Given the description of an element on the screen output the (x, y) to click on. 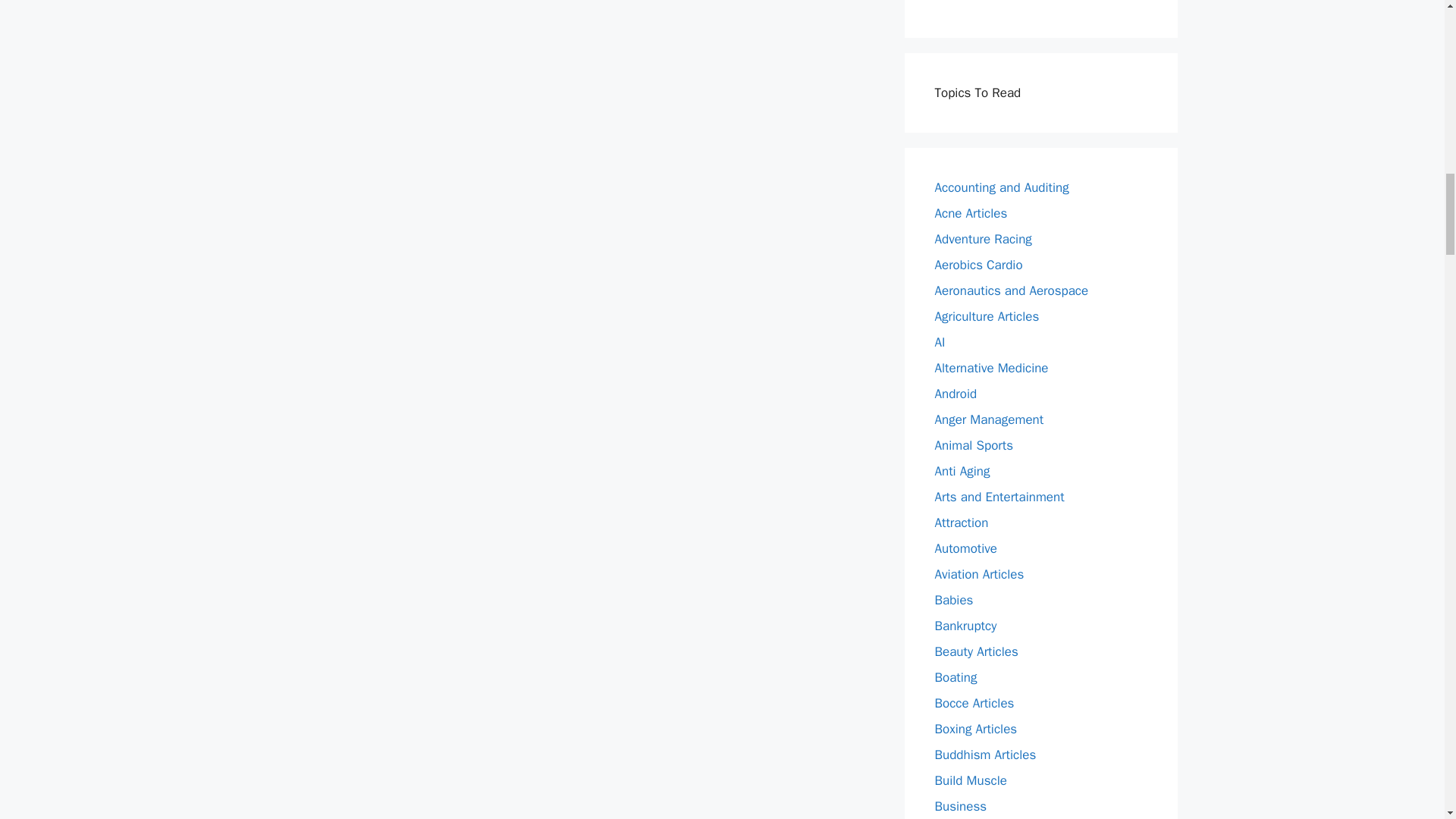
Adventure Racing (982, 238)
Acne Articles (970, 213)
Accounting and Auditing (1001, 187)
